Given the description of an element on the screen output the (x, y) to click on. 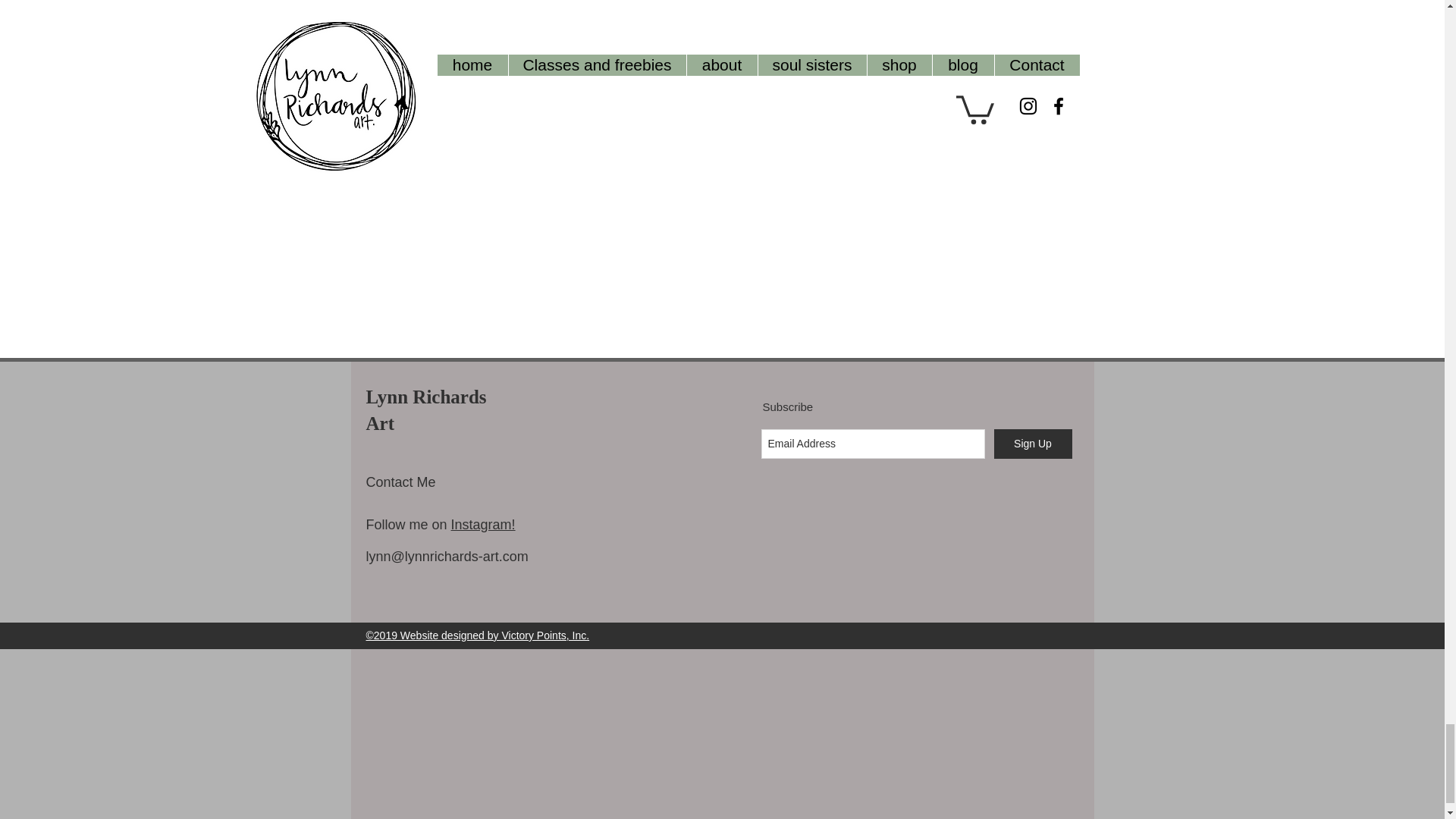
Contact Me (400, 482)
Pin to Pinterest (480, 350)
